Given the description of an element on the screen output the (x, y) to click on. 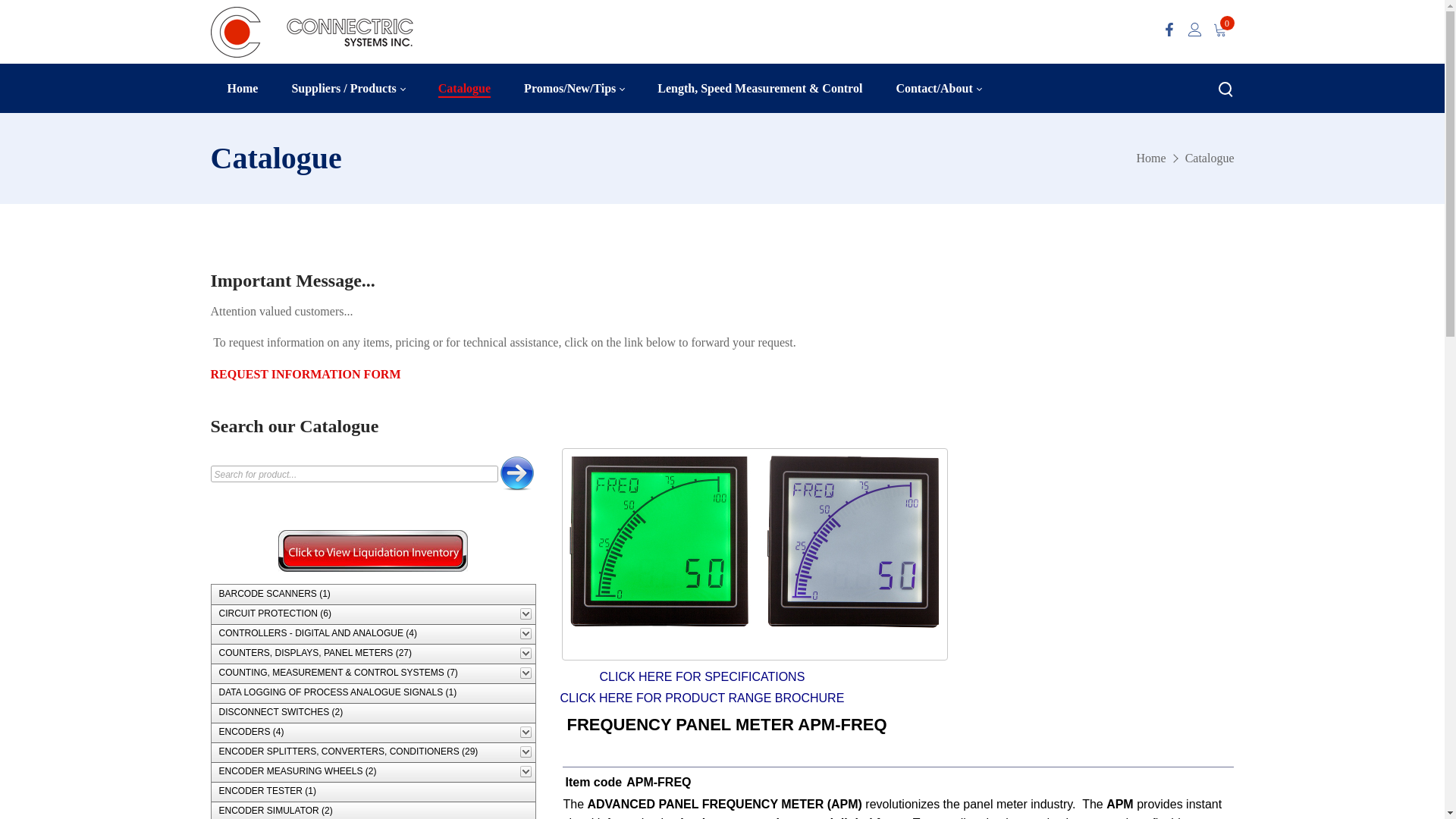
0 (1226, 22)
Home (243, 87)
Home (1151, 158)
Industrial electrical and electronic products distributor  (722, 158)
Catalogue (347, 87)
Search for product... (1209, 157)
Catalogue (353, 473)
Login (464, 87)
